Given the description of an element on the screen output the (x, y) to click on. 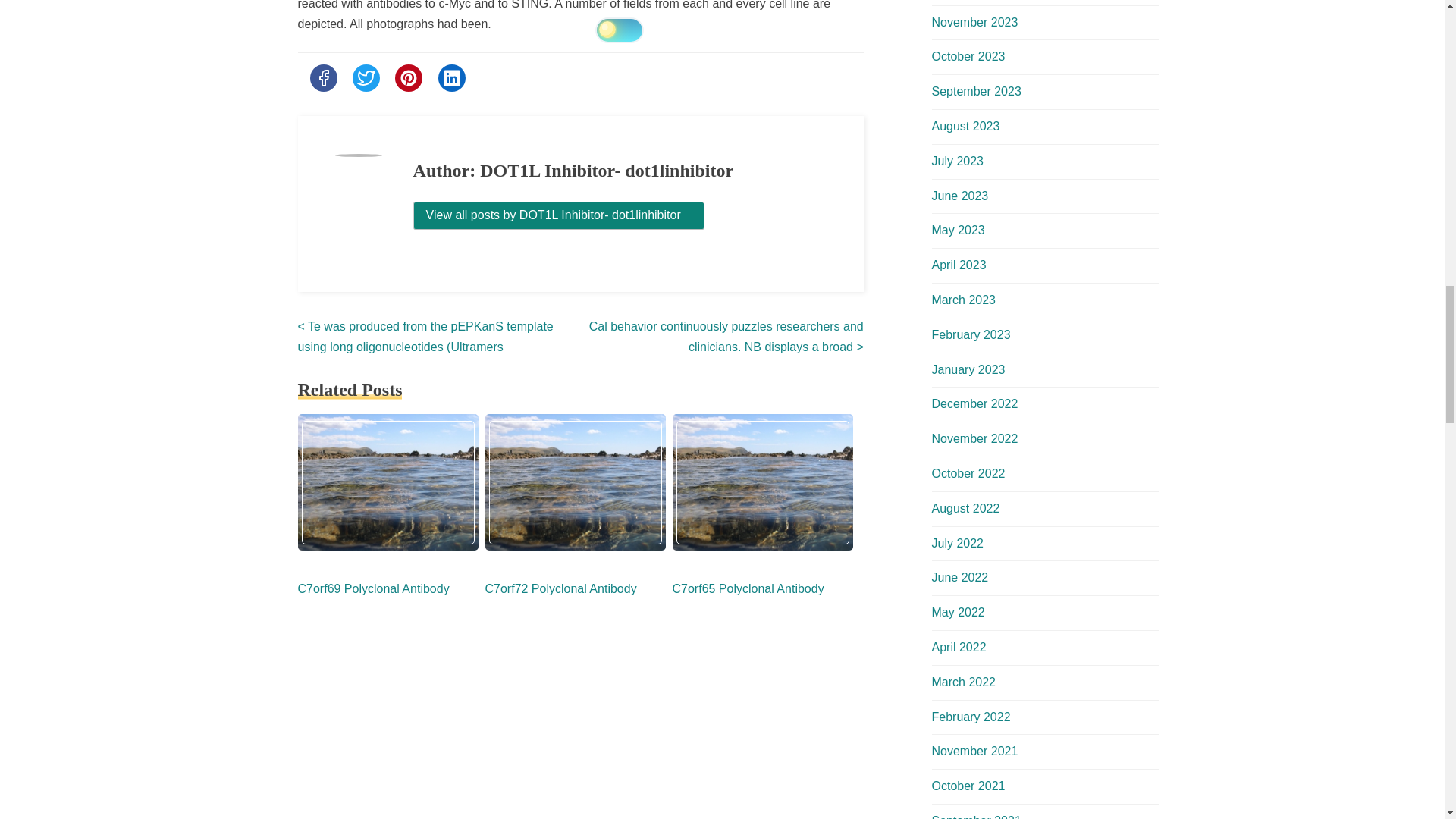
C7orf72 Polyclonal Antibody (560, 588)
Share this post on Linkedin (451, 77)
View all posts by DOT1L Inhibitor- dot1linhibitor (558, 215)
Share this post on Pinterest (408, 77)
Share this post on Twitter (366, 77)
C7orf69 Polyclonal Antibody (372, 588)
View all posts by DOT1L Inhibitor- dot1linhibitor (558, 214)
C7orf65 Polyclonal Antibody (747, 588)
Share this post on Facebook (322, 77)
